Given the description of an element on the screen output the (x, y) to click on. 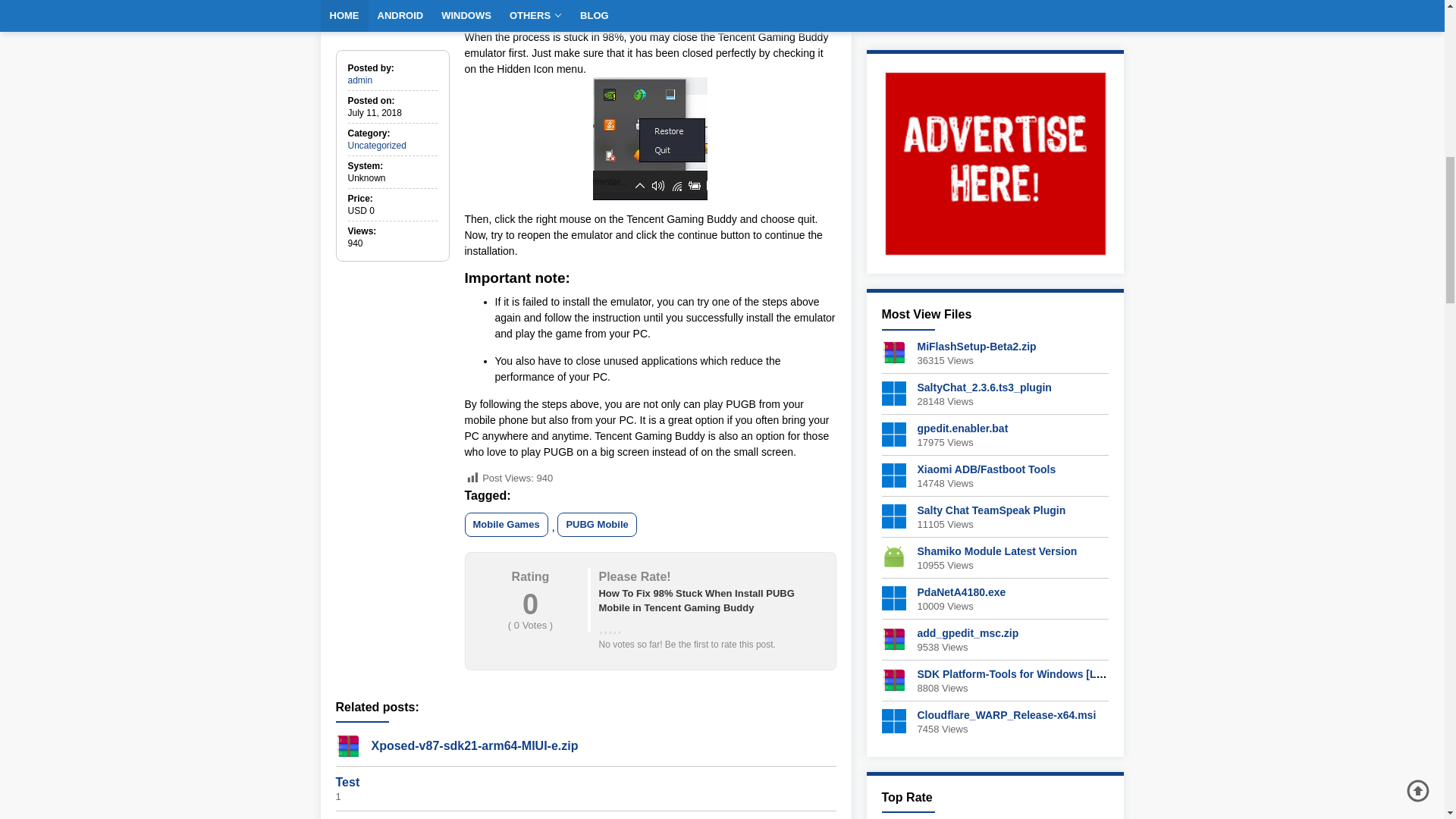
Test (346, 781)
Mobile Games (505, 524)
PUBG Mobile (596, 524)
Xposed-v87-sdk21-arm64-MIUI-e.zip (474, 745)
